Given the description of an element on the screen output the (x, y) to click on. 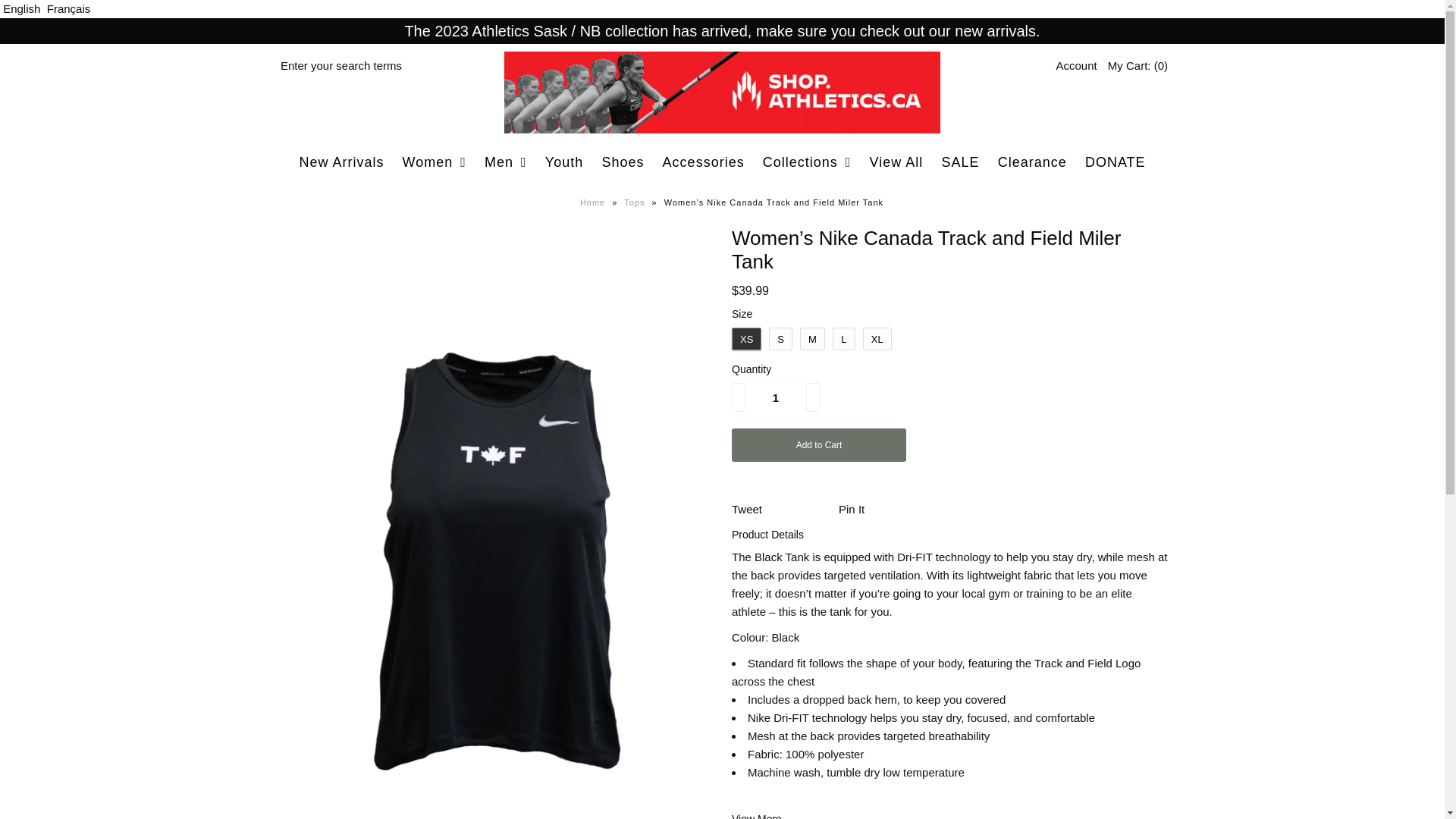
Account Element type: text (1075, 65)
Men Element type: text (505, 162)
Youth Element type: text (563, 162)
Clearance Element type: text (1032, 162)
Tweet Element type: text (746, 508)
Collections Element type: text (807, 162)
New Arrivals Element type: text (341, 162)
Add to Cart Element type: text (818, 444)
Accessories Element type: text (703, 162)
Pin It Element type: text (851, 508)
View All Element type: text (896, 162)
Women Element type: text (434, 162)
Home Element type: text (594, 202)
SALE Element type: text (959, 162)
DONATE Element type: text (1115, 162)
Shoes Element type: text (622, 162)
My Cart: (0) Element type: text (1137, 65)
English Element type: text (21, 8)
Tops Element type: text (636, 202)
